Given the description of an element on the screen output the (x, y) to click on. 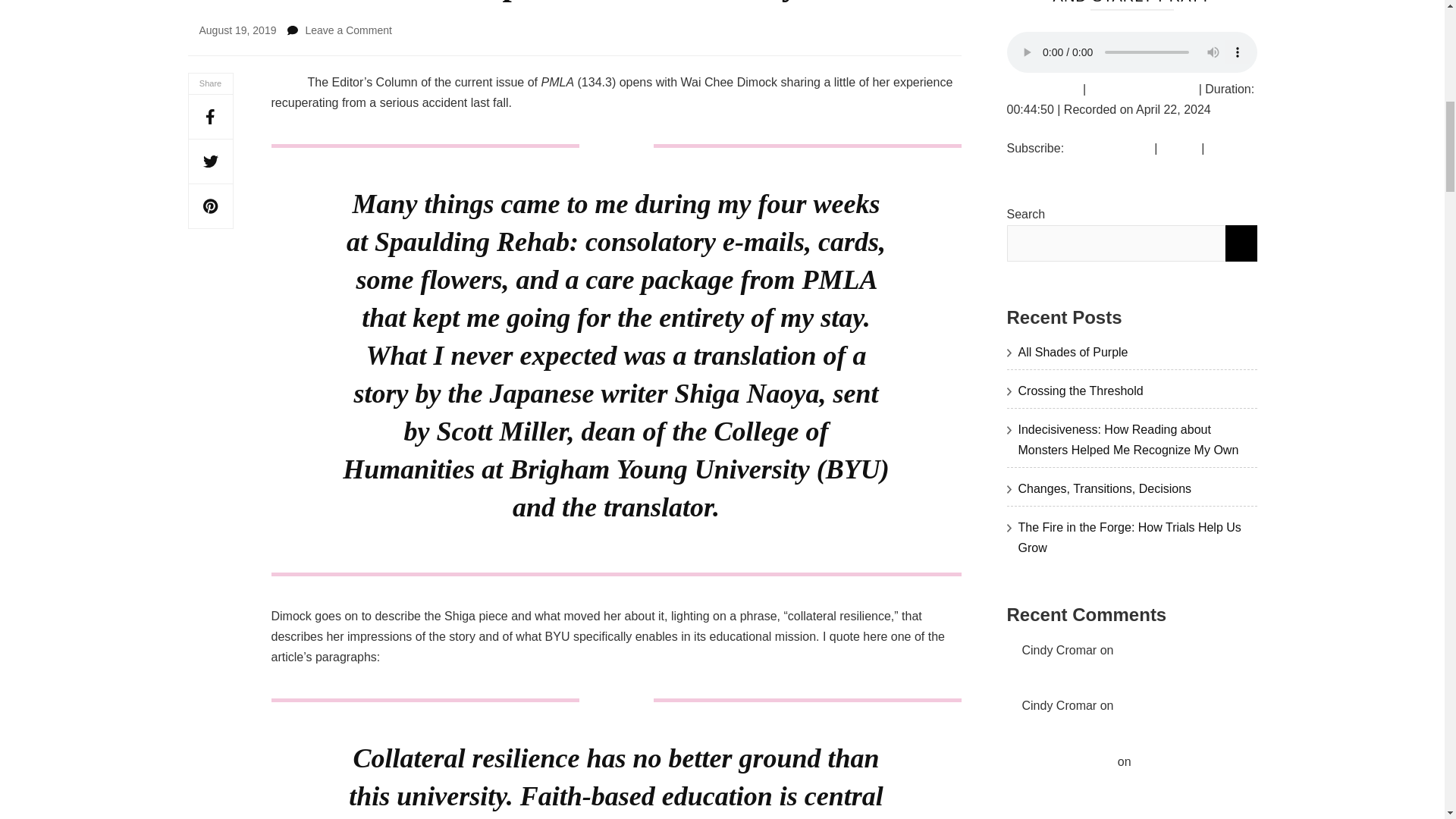
Stitcher (1228, 147)
Apple Podcasts (1109, 147)
Spotify (1179, 147)
